Given the description of an element on the screen output the (x, y) to click on. 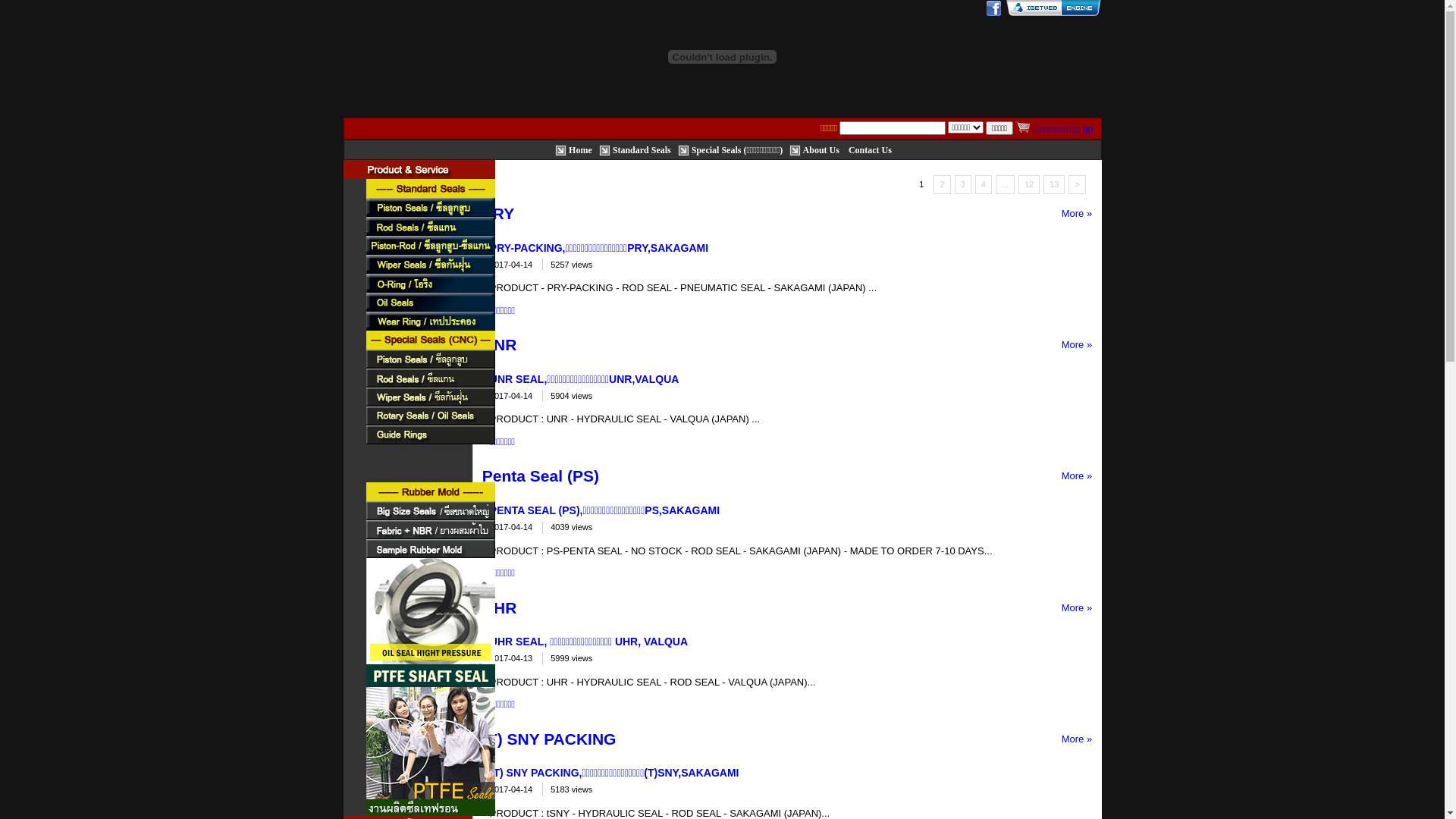
3 Element type: text (962, 184)
 Contact Us  Element type: text (870, 149)
> Element type: text (1076, 184)
12 Element type: text (1028, 184)
Rotary Seals / Oil Seals Element type: text (429, 415)
... Element type: text (1004, 184)
UHR Element type: text (499, 607)
Standard Seals Element type: text (429, 187)
(T) SNY PACKING Element type: text (549, 738)
Penta Seal (PS) Element type: text (540, 475)
Rubber Mold Element type: text (429, 491)
 Standard Seals  Element type: text (636, 149)
Sample Rubber Mold Element type: text (429, 548)
Guide Rings Element type: text (429, 434)
Special Seals (CNC) Element type: text (429, 339)
13 Element type: text (1053, 184)
Big Size Seals Element type: text (429, 510)
Oil Seal Element type: text (429, 301)
 Home  Element type: text (574, 149)
Fabric+NBR Element type: text (429, 529)
PRY Element type: text (498, 213)
 About Us  Element type: text (815, 149)
4 Element type: text (983, 184)
UNR Element type: text (499, 344)
ptfe oil seal Element type: text (429, 622)
Backup Rings Element type: text (429, 453)
2 Element type: text (941, 184)
